Given the description of an element on the screen output the (x, y) to click on. 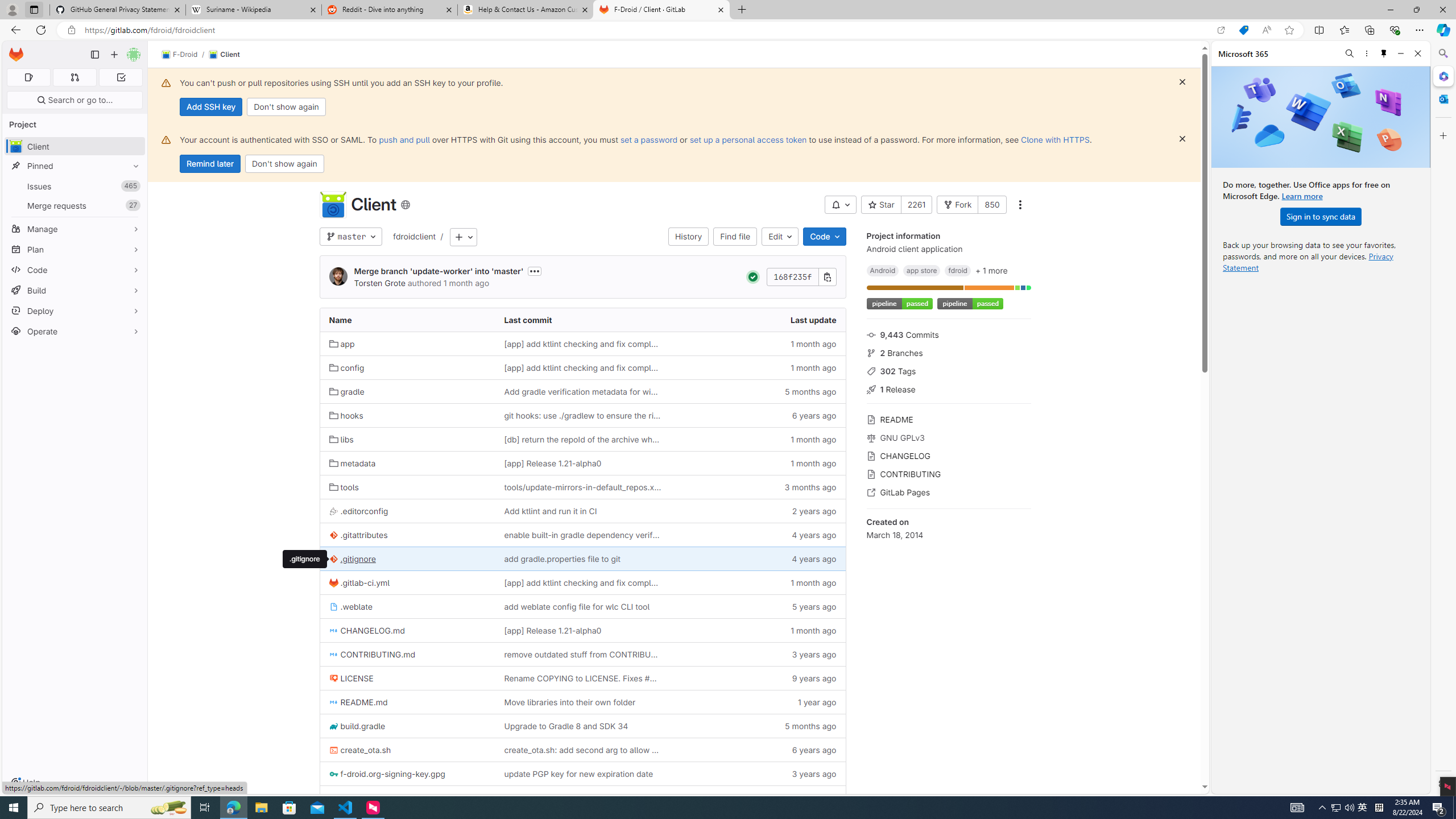
enable built-in gradle dependency verification (582, 535)
set a password (649, 139)
Reddit - Dive into anything (390, 9)
LICENSE (407, 677)
2261 (916, 204)
enable built-in gradle dependency verification (583, 534)
Fork (957, 204)
[app] Release 1.21-alpha0 (583, 630)
CONTRIBUTING (948, 473)
avatar (15, 146)
tools (343, 487)
Rename COPYING to LICENSE. Fixes #384 (583, 677)
